Given the description of an element on the screen output the (x, y) to click on. 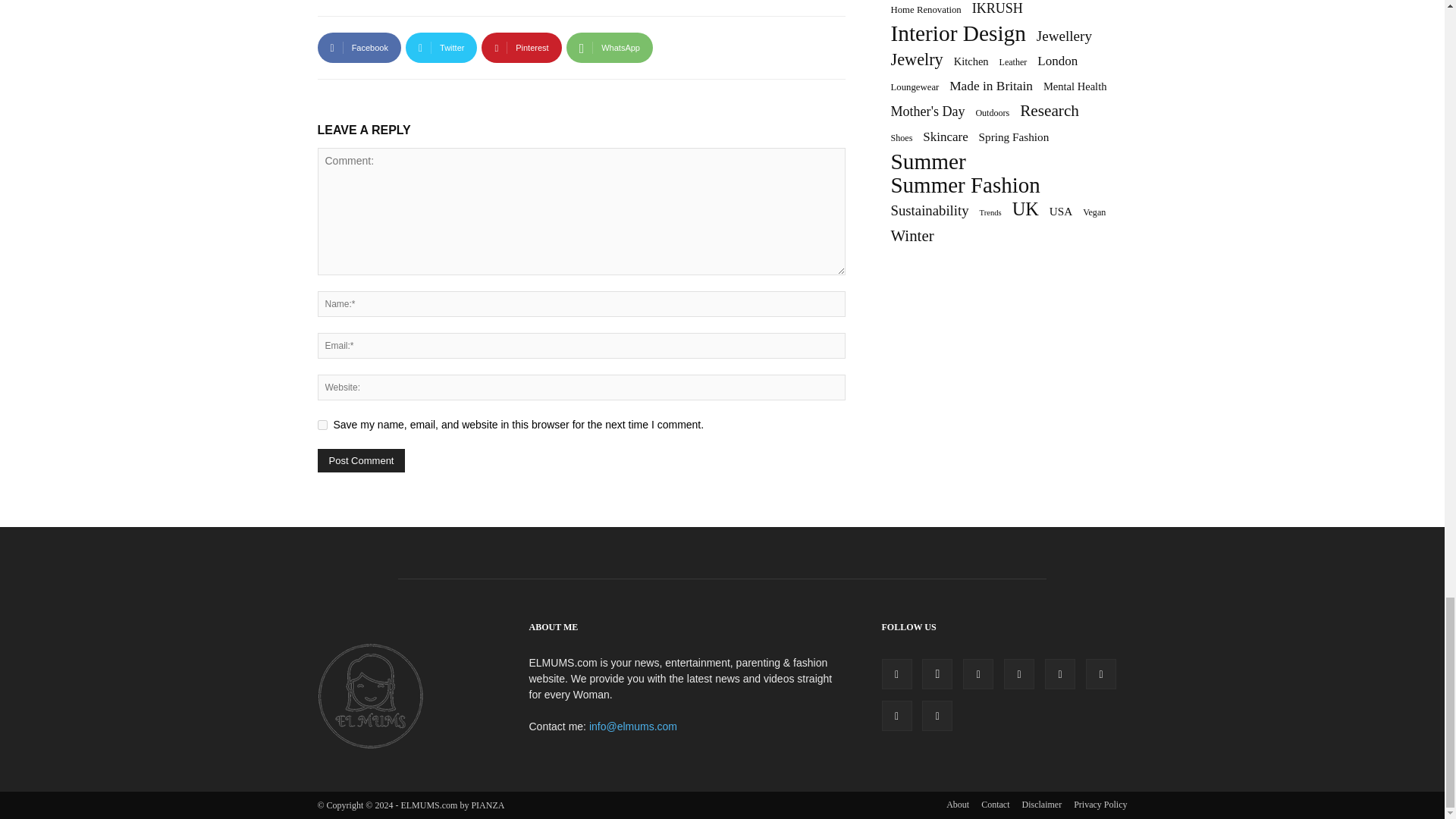
yes (321, 424)
Post Comment (360, 460)
